Given the description of an element on the screen output the (x, y) to click on. 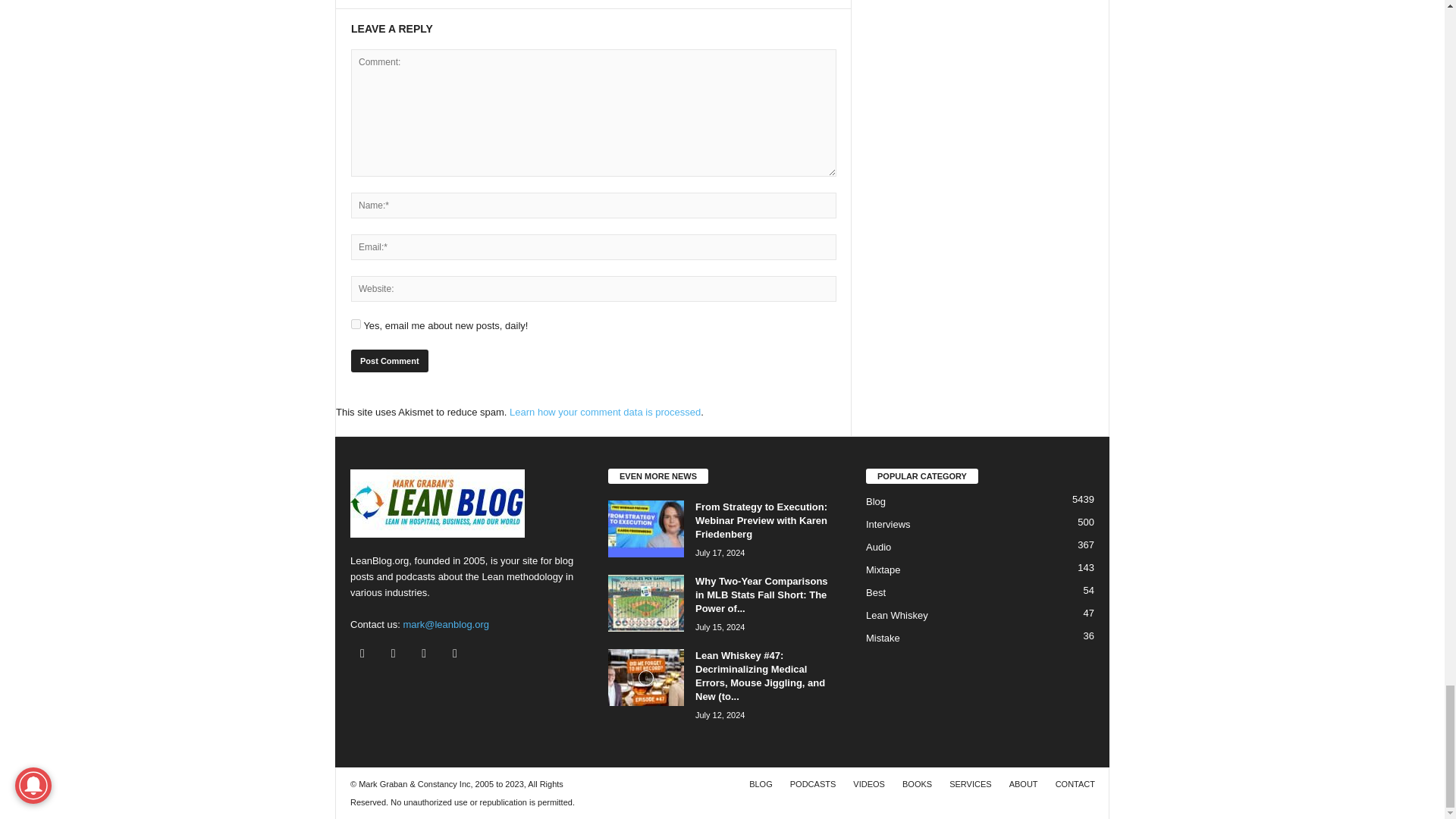
Post Comment (389, 360)
1 (355, 324)
